Given the description of an element on the screen output the (x, y) to click on. 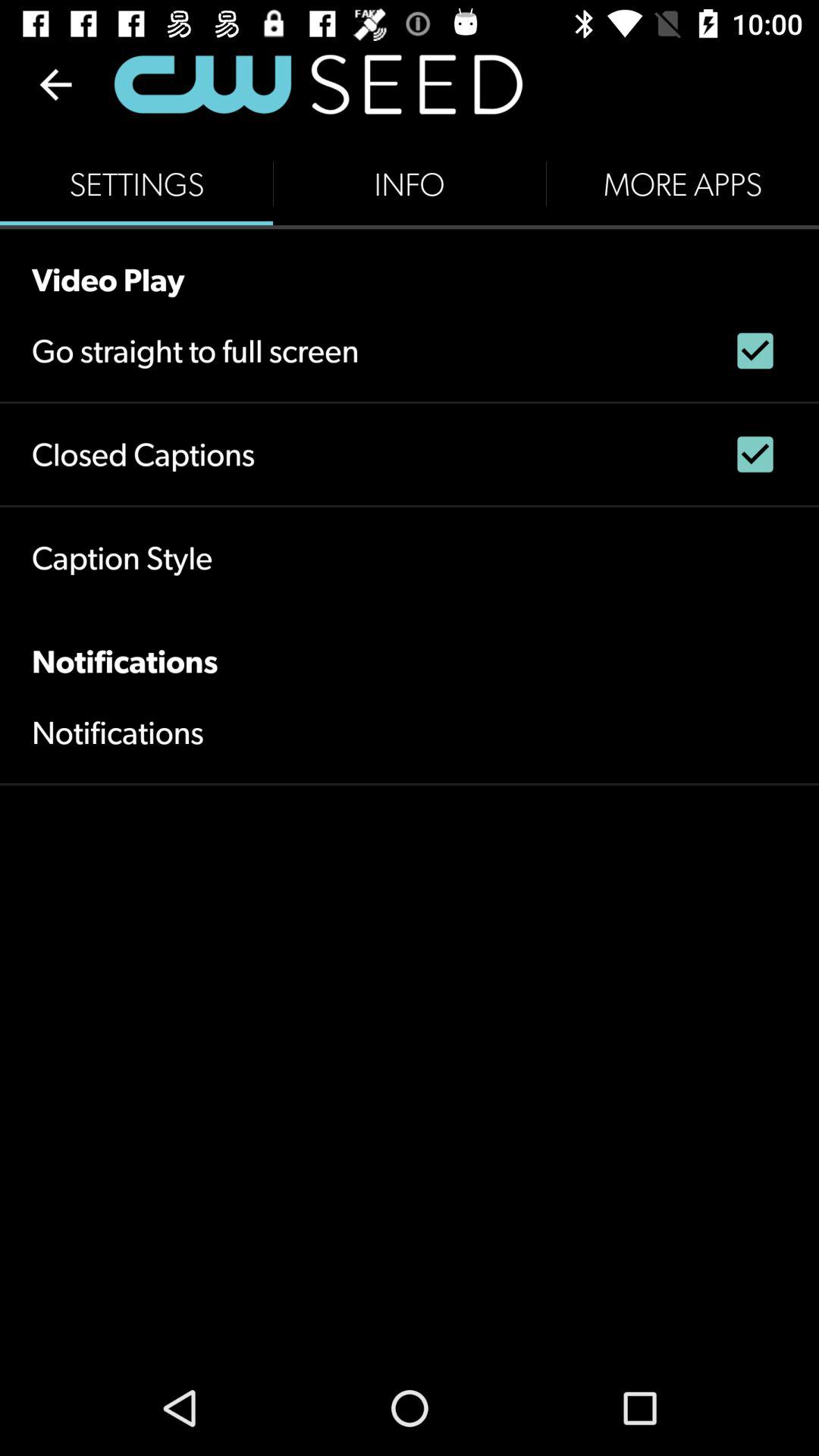
turn off item above the video play (136, 184)
